Given the description of an element on the screen output the (x, y) to click on. 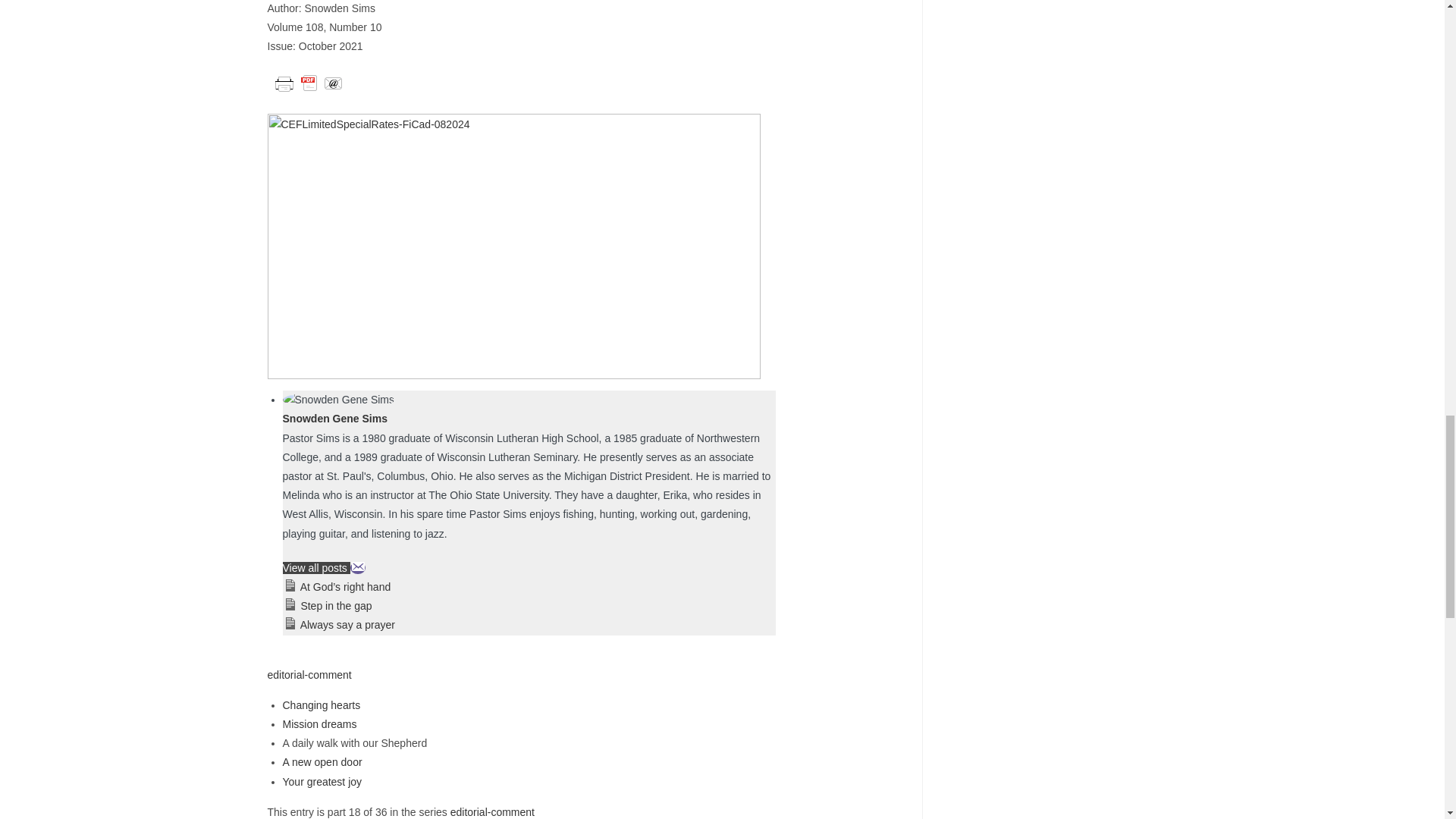
CEFLimitedSpecialRates-FiCad-082024 (513, 246)
View all posts (315, 567)
Step in the gap (335, 605)
CEFLimitedSpecialRates-FiCad-082024 (513, 244)
A new open door (321, 761)
editorial-comment (308, 674)
Snowden Gene Sims (334, 418)
Mission dreams (319, 724)
Always say a prayer (346, 624)
Changing hearts (320, 705)
